Given the description of an element on the screen output the (x, y) to click on. 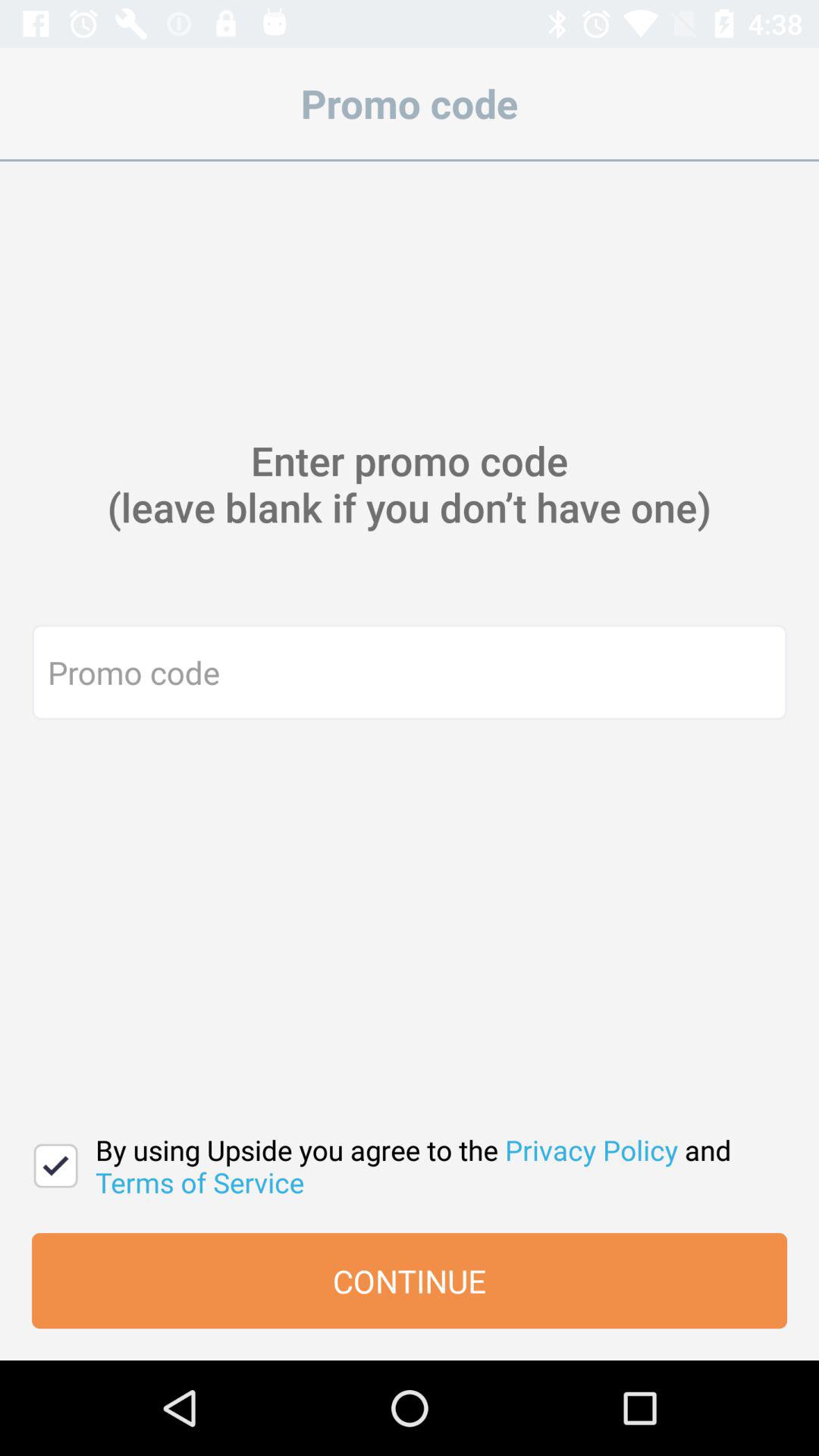
agree to terms of service (55, 1165)
